Given the description of an element on the screen output the (x, y) to click on. 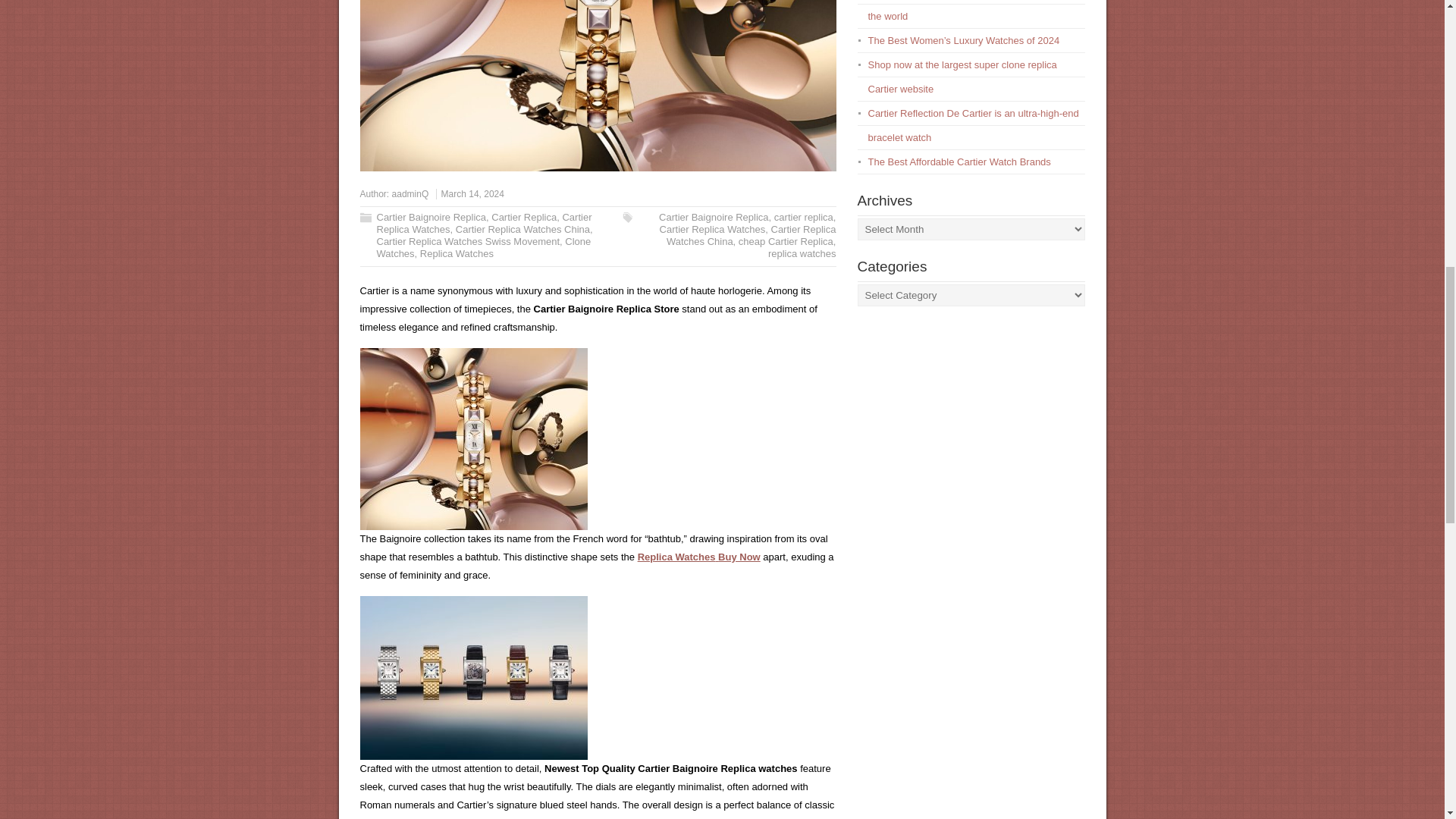
Cartier Replica Watches Swiss Movement (467, 241)
Cartier Replica Watches China (750, 235)
cheap Cartier Replica (785, 241)
Replica Watches (456, 253)
replica watches (801, 253)
Replica Watches Buy Now (698, 556)
Cartier Baignoire Replica (430, 216)
Cartier Replica Watches (712, 229)
Cartier Replica Watches (483, 223)
cartier replica (803, 216)
Posts by aadminQ (410, 194)
Cartier Baignoire Replica (713, 216)
aadminQ (410, 194)
Cartier Replica (524, 216)
Clone Watches (483, 247)
